Given the description of an element on the screen output the (x, y) to click on. 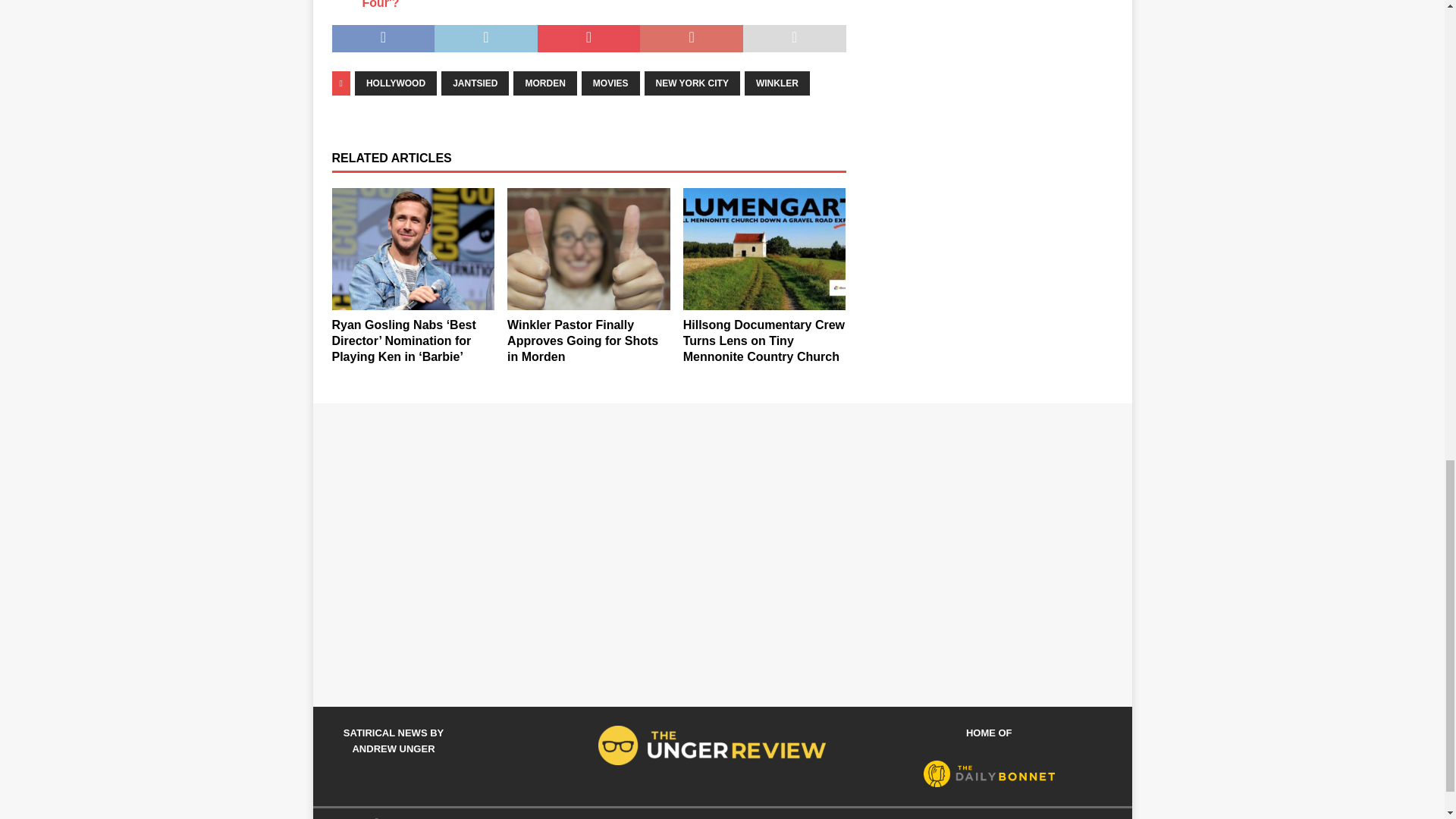
Winkler Pastor Finally Approves Going for Shots in Morden (587, 249)
Winkler Pastor Finally Approves Going for Shots in Morden (582, 340)
